Given the description of an element on the screen output the (x, y) to click on. 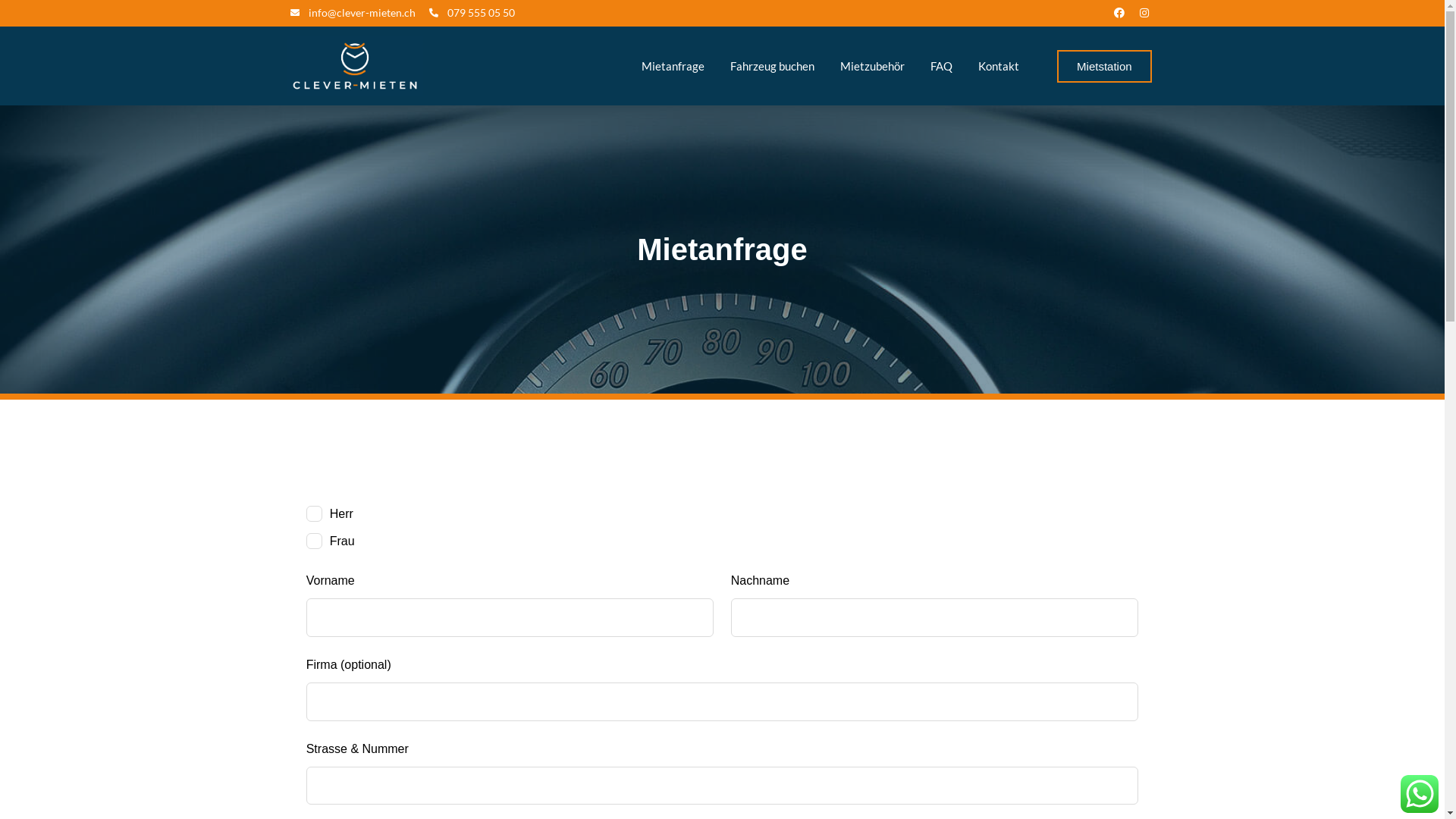
Kontakt Element type: text (998, 65)
info@clever-mieten.ch Element type: text (351, 12)
Mietstation Element type: text (1104, 66)
Mietanfrage Element type: text (672, 65)
079 555 05 50 Element type: text (471, 12)
Fahrzeug buchen Element type: text (771, 65)
FAQ Element type: text (941, 65)
